Given the description of an element on the screen output the (x, y) to click on. 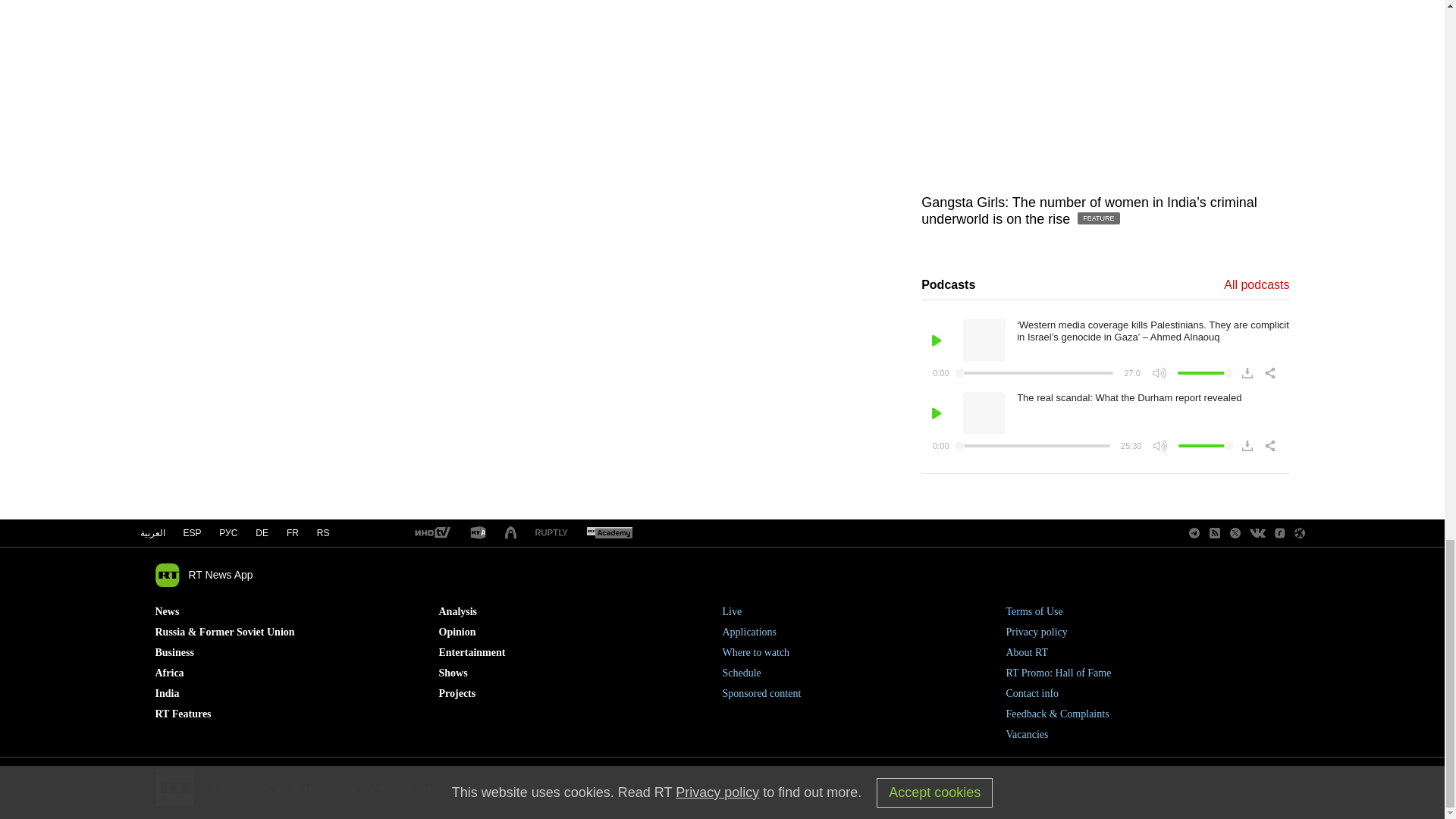
RT  (608, 533)
RT  (510, 533)
RT  (431, 533)
RT  (551, 533)
RT  (478, 533)
